Given the description of an element on the screen output the (x, y) to click on. 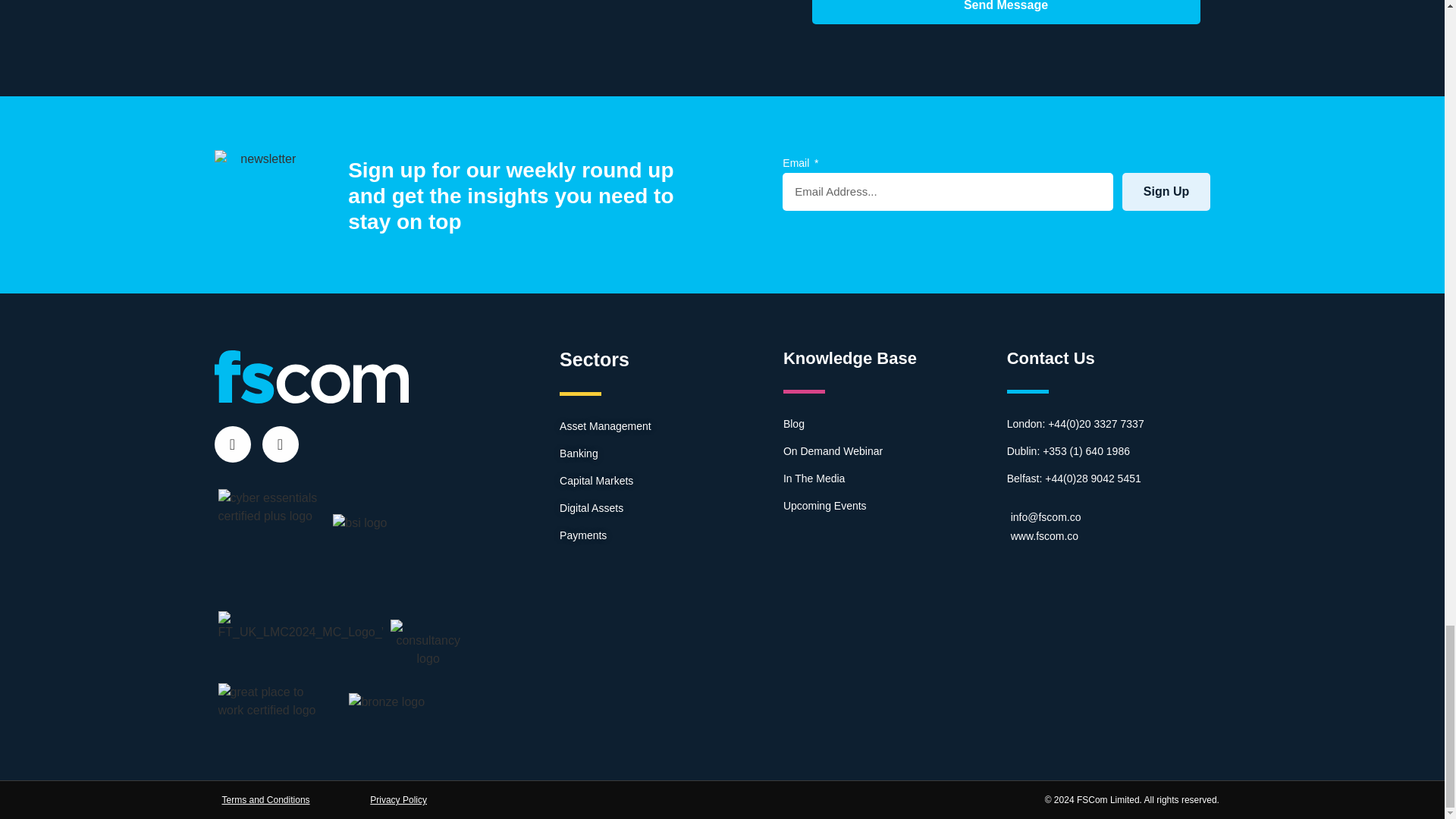
Send Message (1004, 12)
bronze-logo (387, 701)
fscom-good-place-to-work-logo (272, 701)
